Given the description of an element on the screen output the (x, y) to click on. 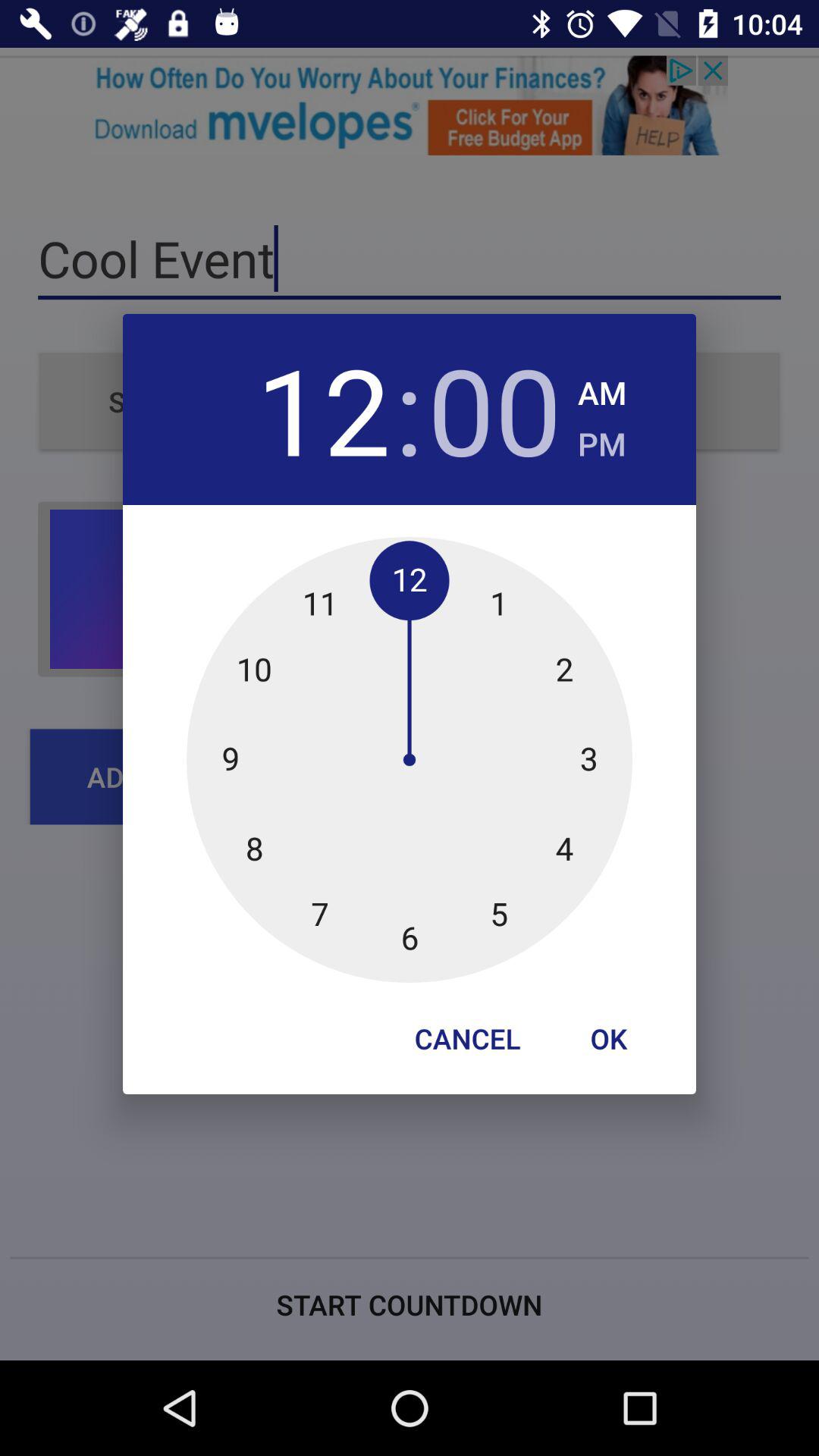
select the pm (601, 439)
